Given the description of an element on the screen output the (x, y) to click on. 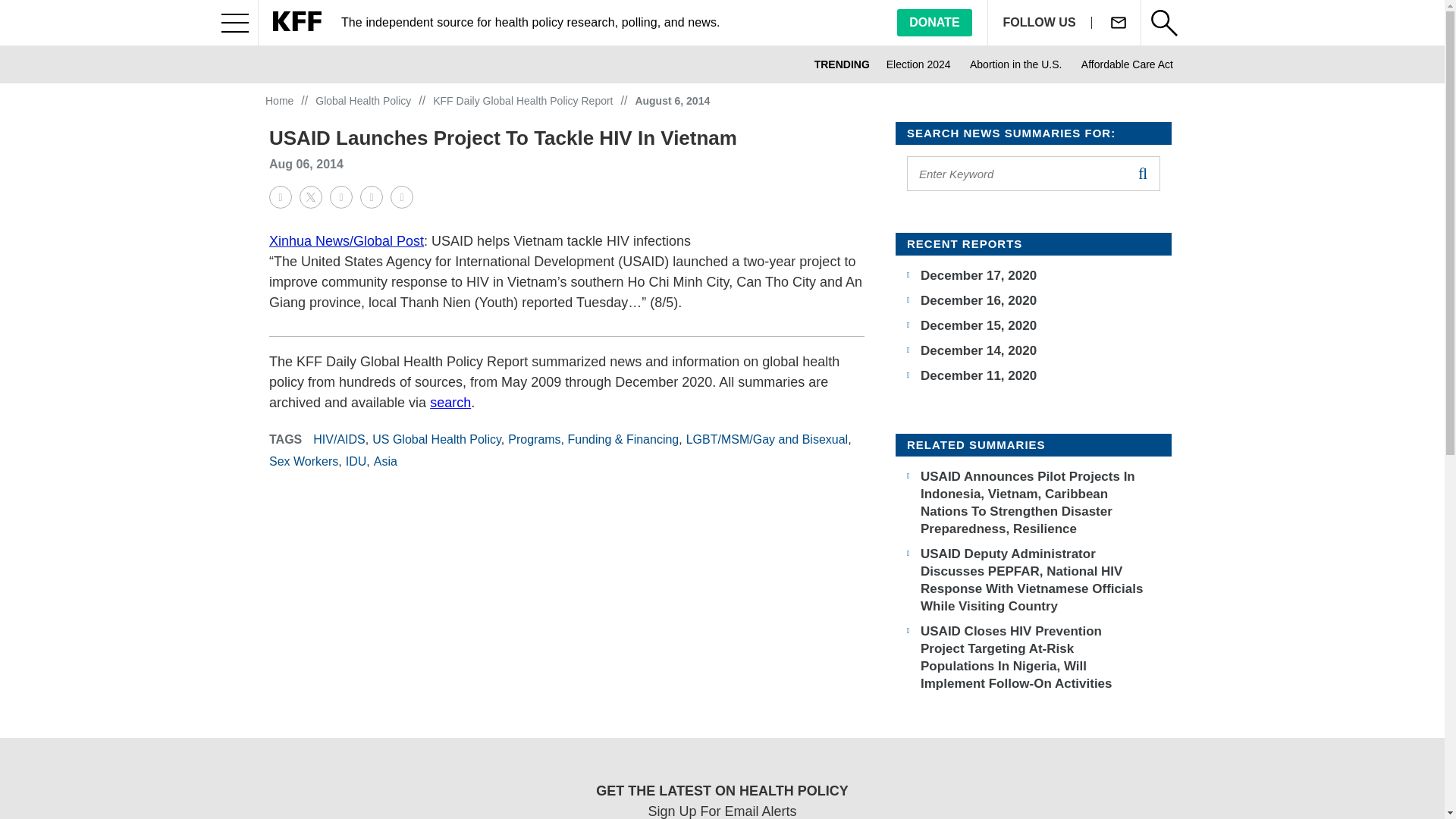
search (1141, 173)
